Given the description of an element on the screen output the (x, y) to click on. 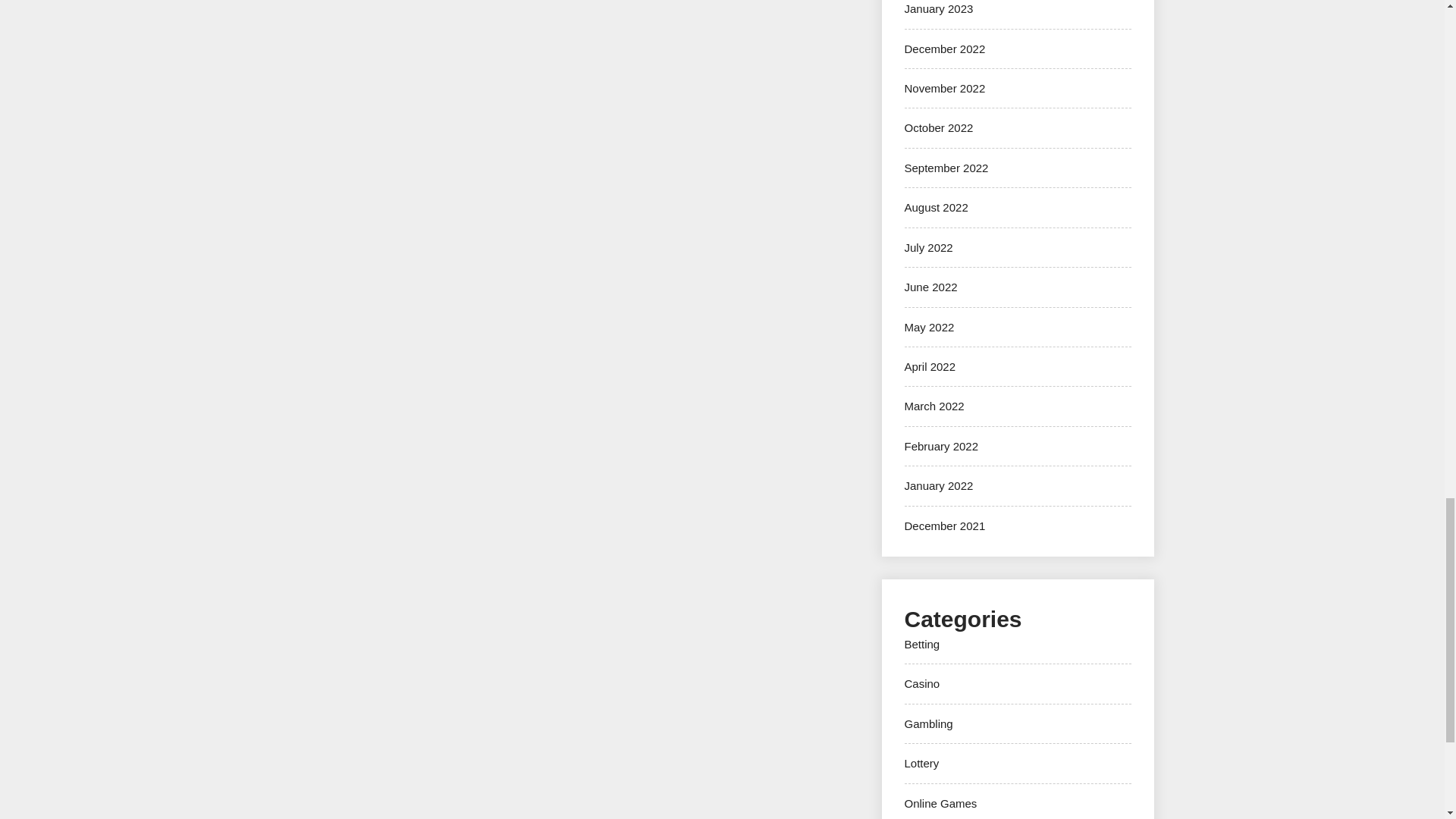
January 2023 (938, 8)
December 2022 (944, 48)
November 2022 (944, 88)
